Given the description of an element on the screen output the (x, y) to click on. 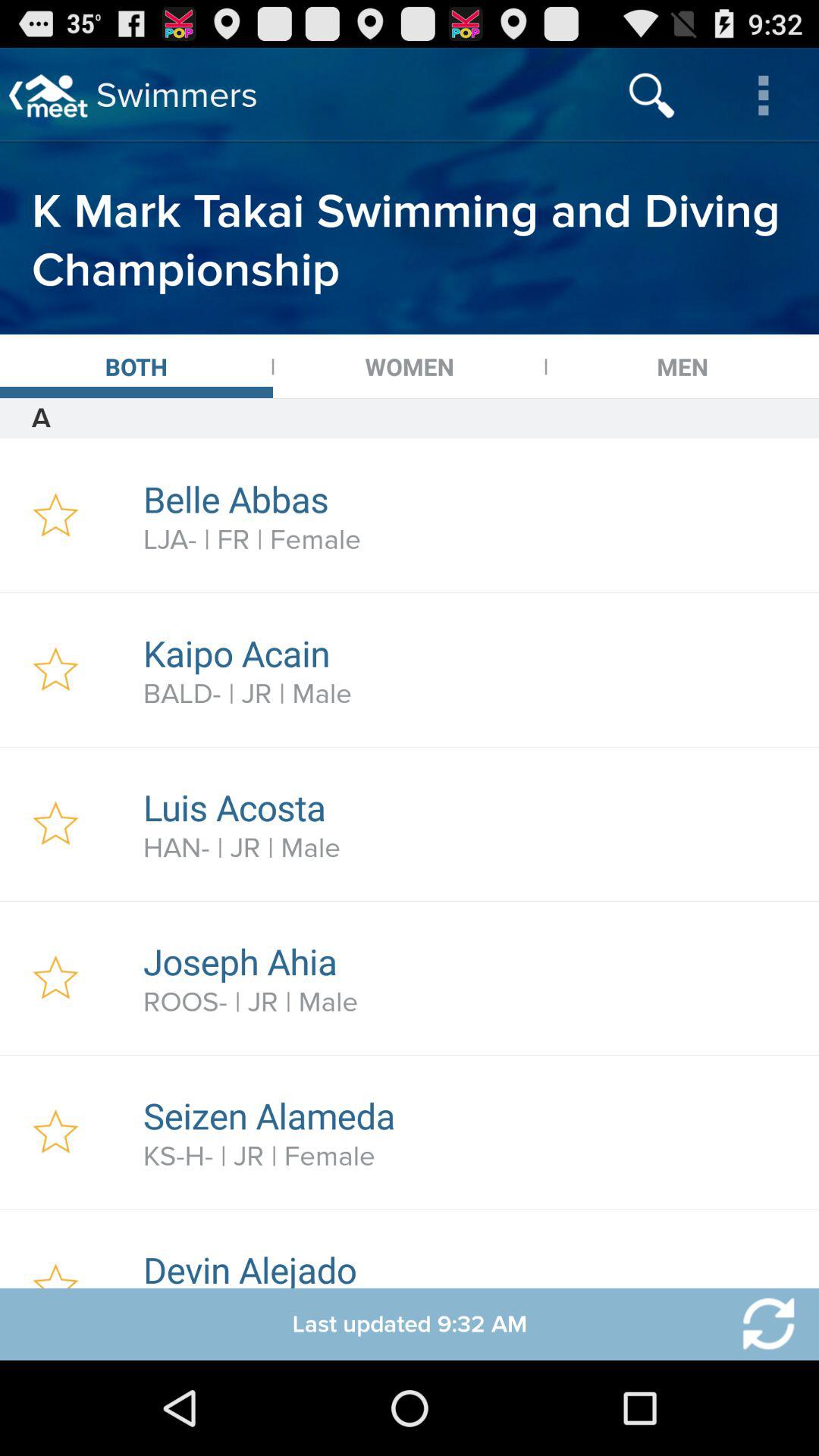
click item below the k mark takai item (409, 366)
